Given the description of an element on the screen output the (x, y) to click on. 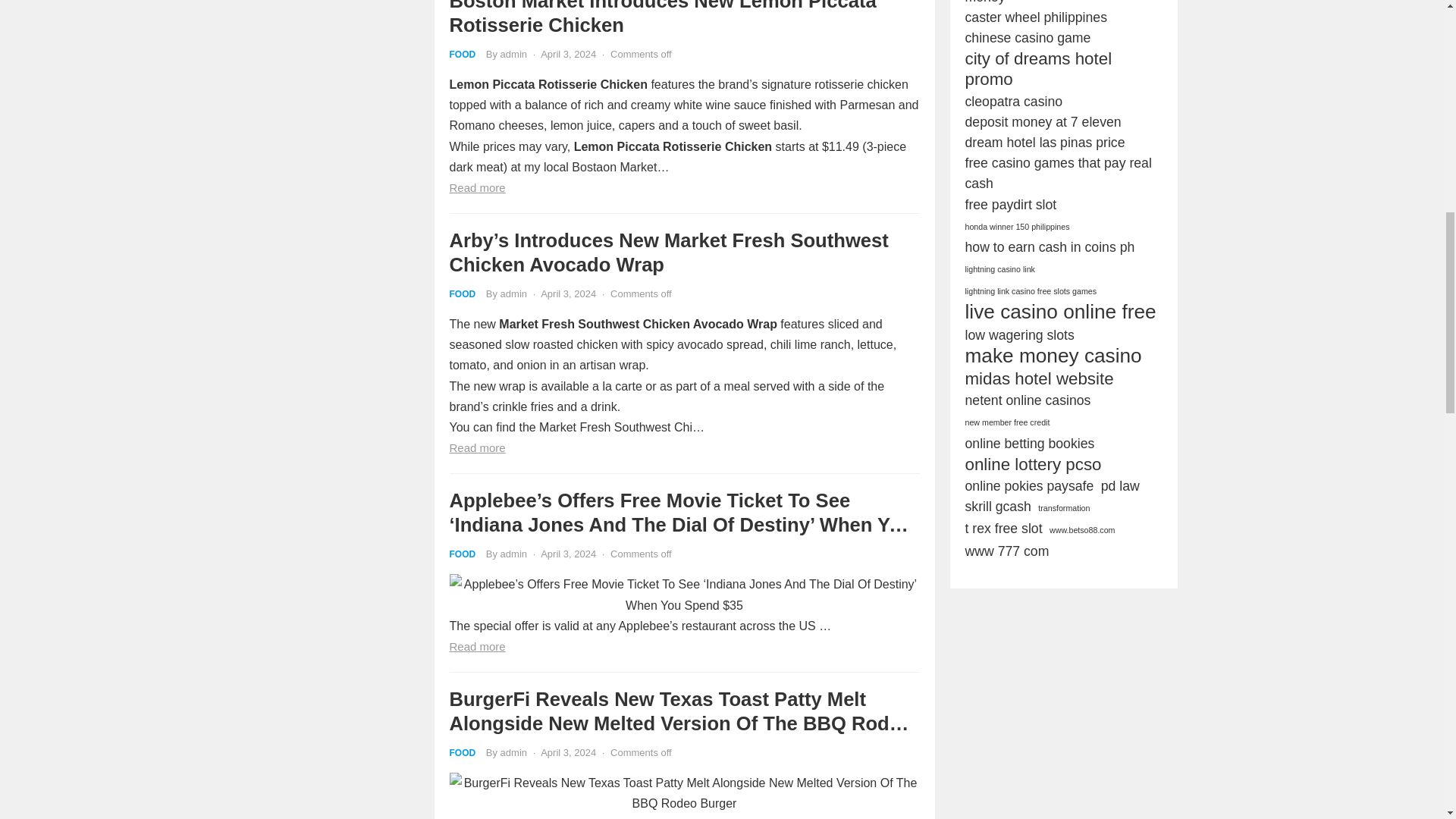
Posts by admin (513, 553)
Posts by admin (513, 53)
Posts by admin (513, 293)
Posts by admin (513, 752)
